Given the description of an element on the screen output the (x, y) to click on. 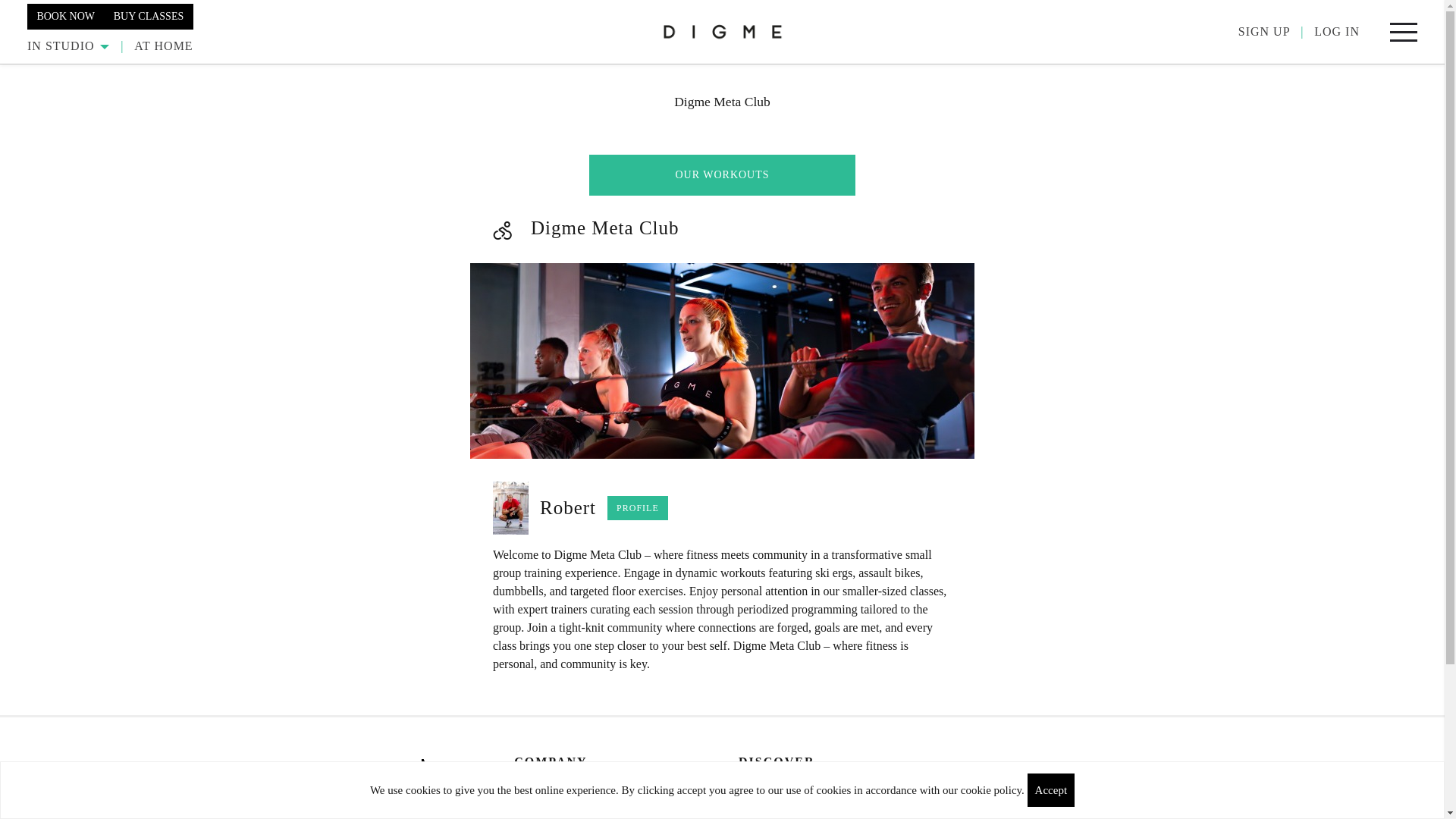
Digme (722, 31)
AT HOME (162, 45)
Digme Meta Club (722, 360)
Download iOS App (345, 807)
PROFILE (637, 508)
Accept (1050, 789)
BUY CLASSES (148, 15)
BOOK NOW (65, 15)
SIGN UP (1264, 31)
IN STUDIO (68, 45)
OUR WORKOUTS (722, 174)
LOG IN (1336, 31)
